Given the description of an element on the screen output the (x, y) to click on. 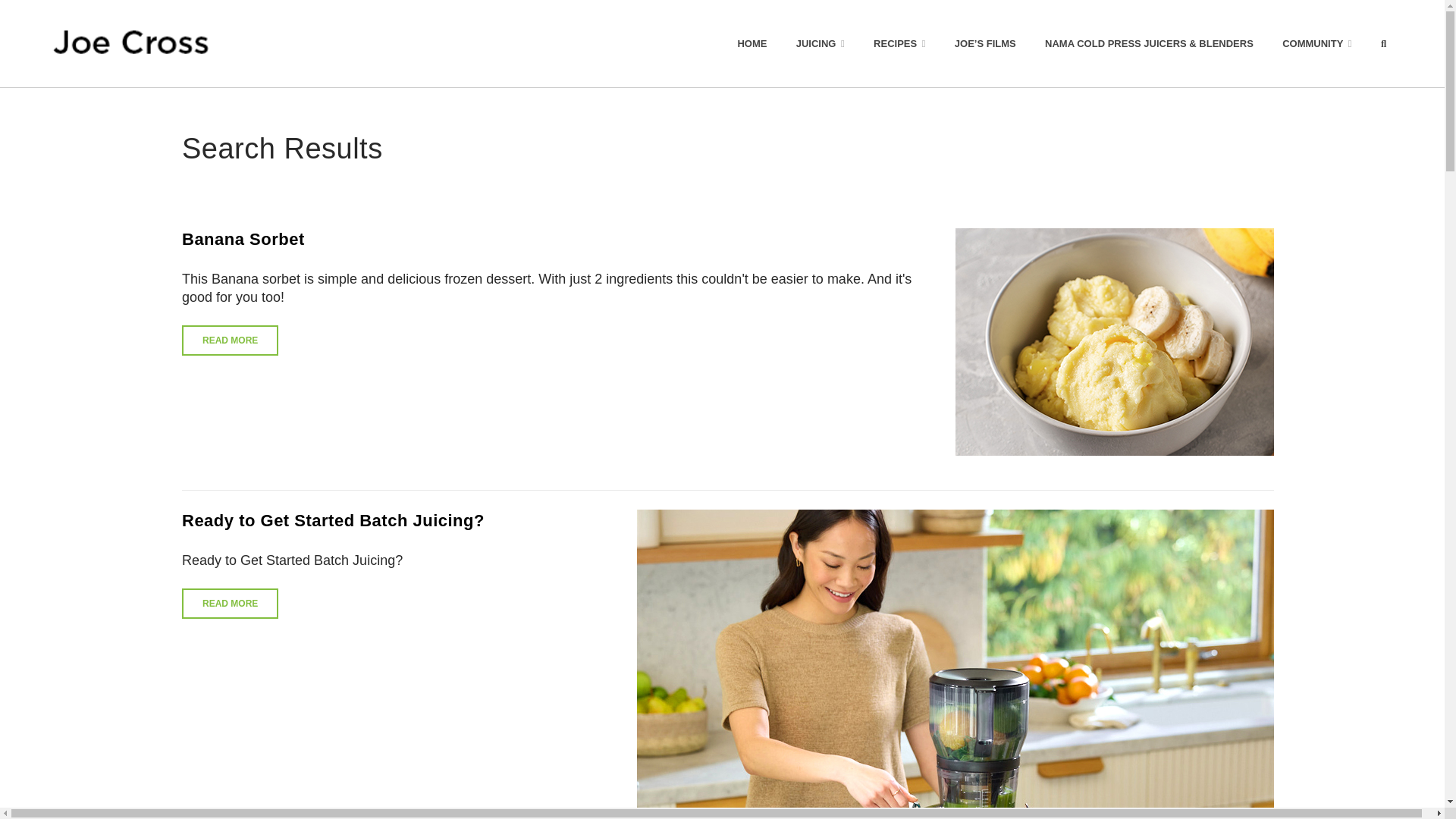
Joe Cross (131, 43)
RECIPES (899, 43)
Banana Sorbet (243, 239)
READ MORE (230, 340)
COMMUNITY (1317, 43)
